Given the description of an element on the screen output the (x, y) to click on. 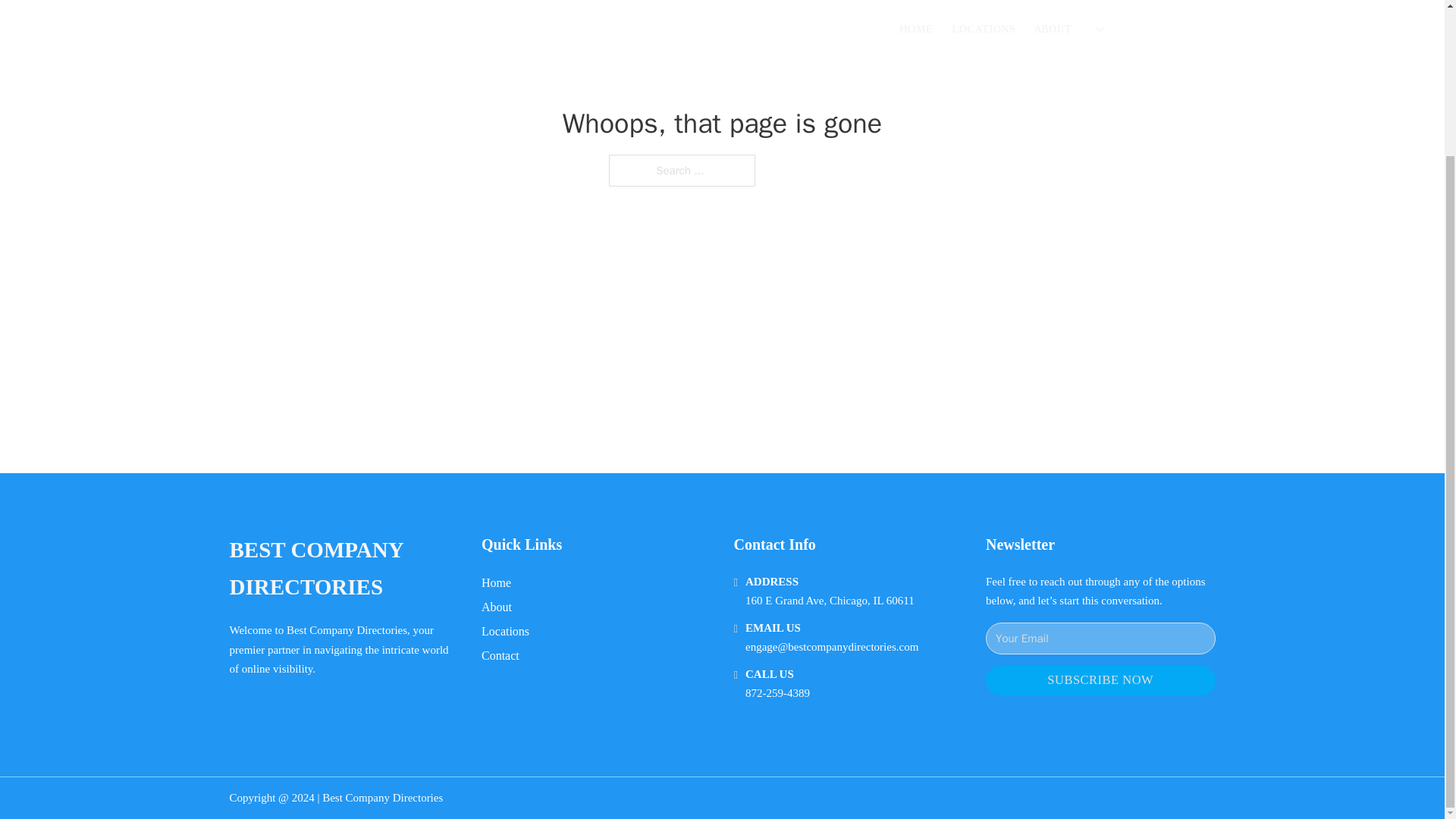
Contact (500, 655)
SUBSCRIBE NOW (1100, 680)
Locations (505, 630)
Home (496, 582)
872-259-4389 (777, 693)
BEST COMPANY DIRECTORIES (343, 568)
About (496, 607)
